Given the description of an element on the screen output the (x, y) to click on. 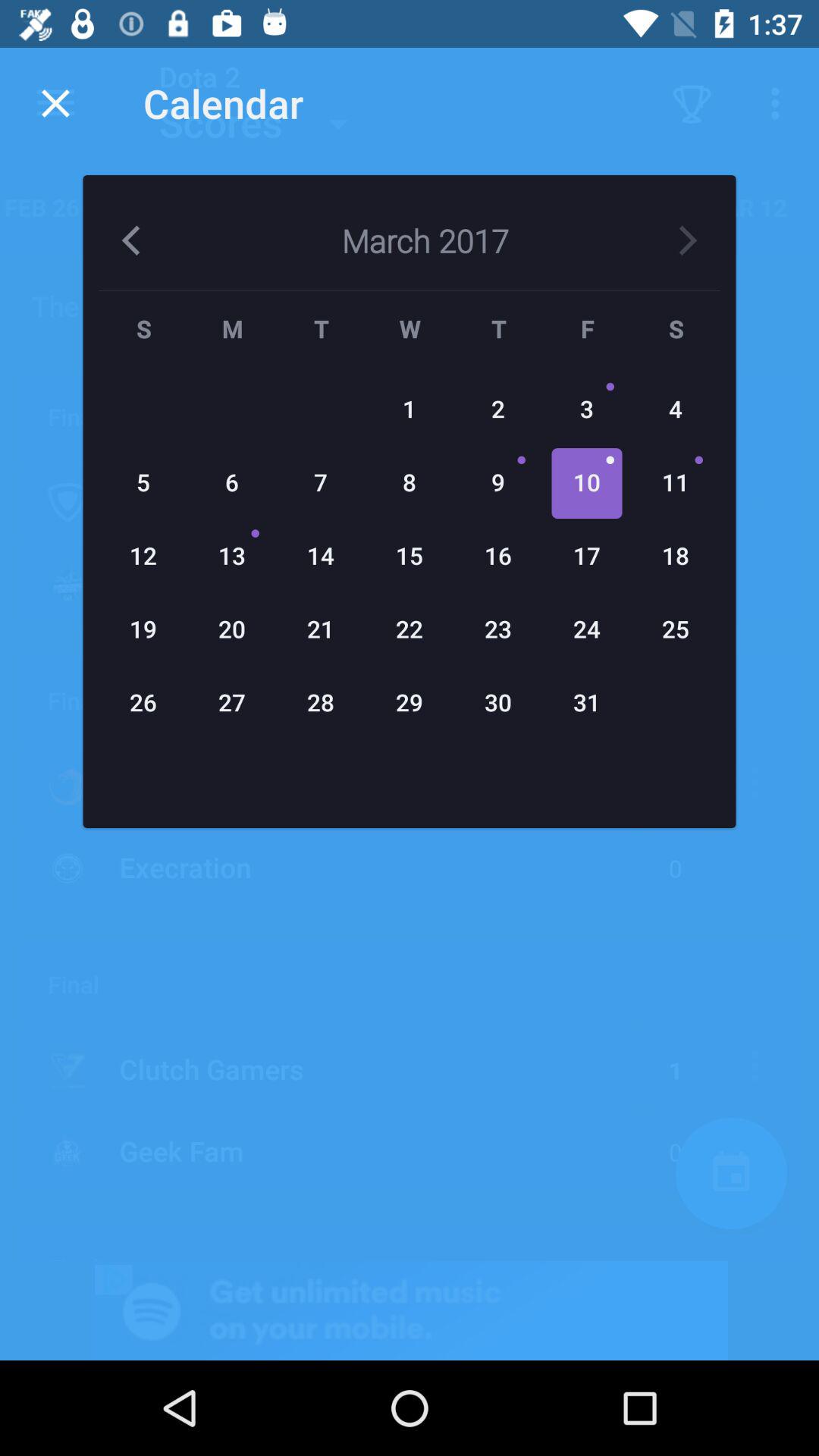
close (55, 103)
